Given the description of an element on the screen output the (x, y) to click on. 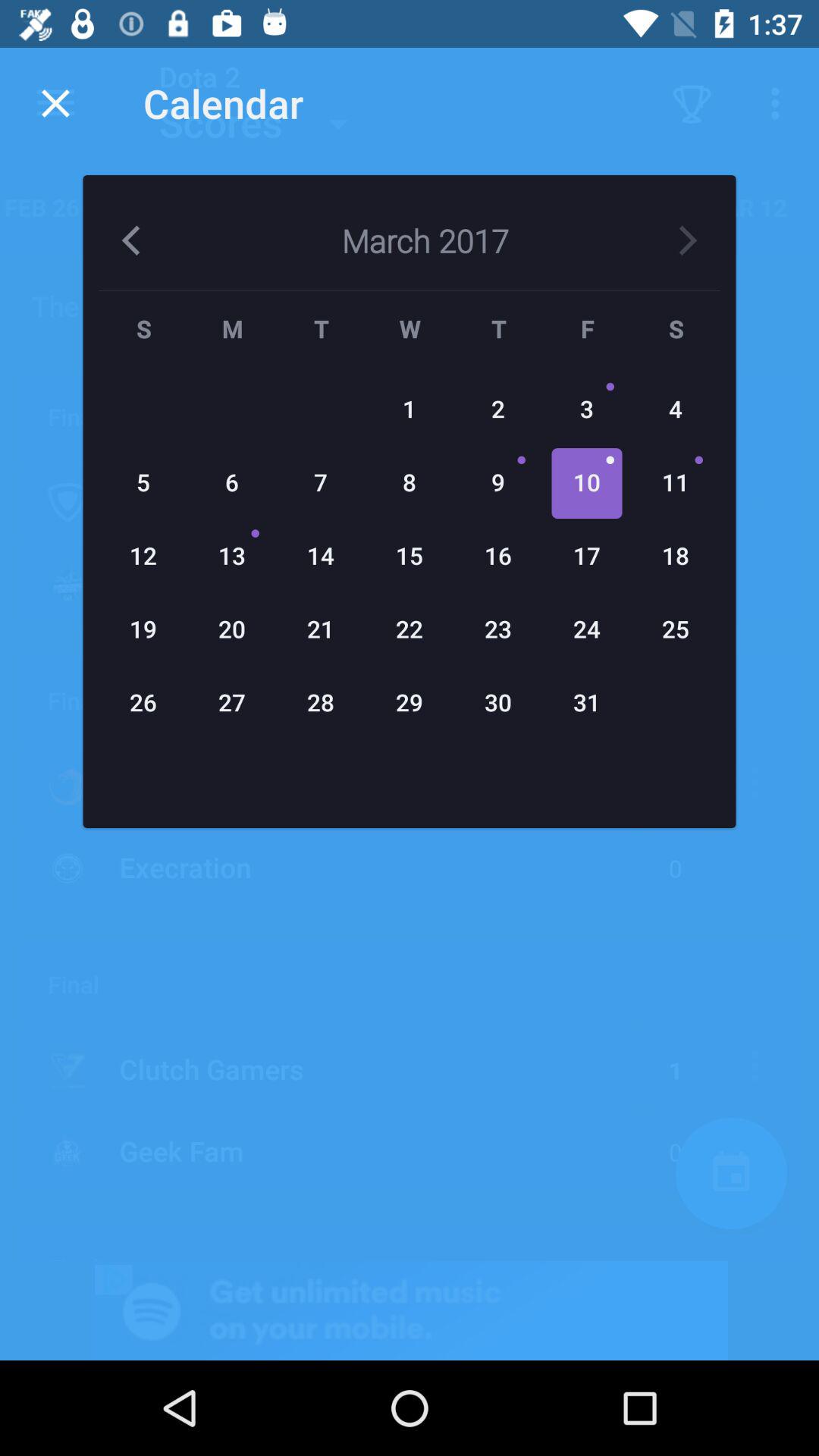
close (55, 103)
